Given the description of an element on the screen output the (x, y) to click on. 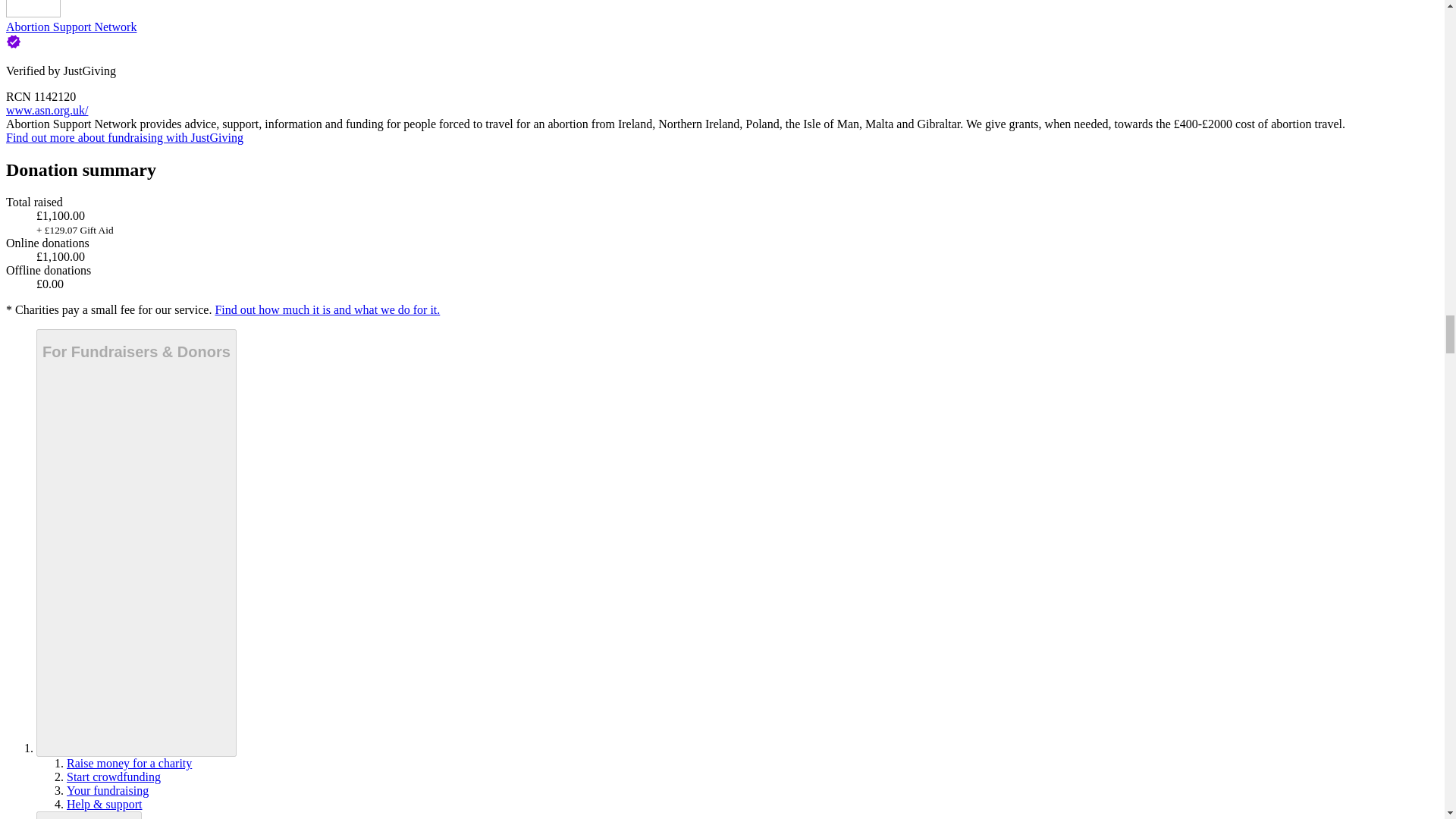
Find out more about fundraising with JustGiving (124, 137)
Find out how much it is and what we do for it. (326, 309)
Abortion Support Network (70, 26)
